Given the description of an element on the screen output the (x, y) to click on. 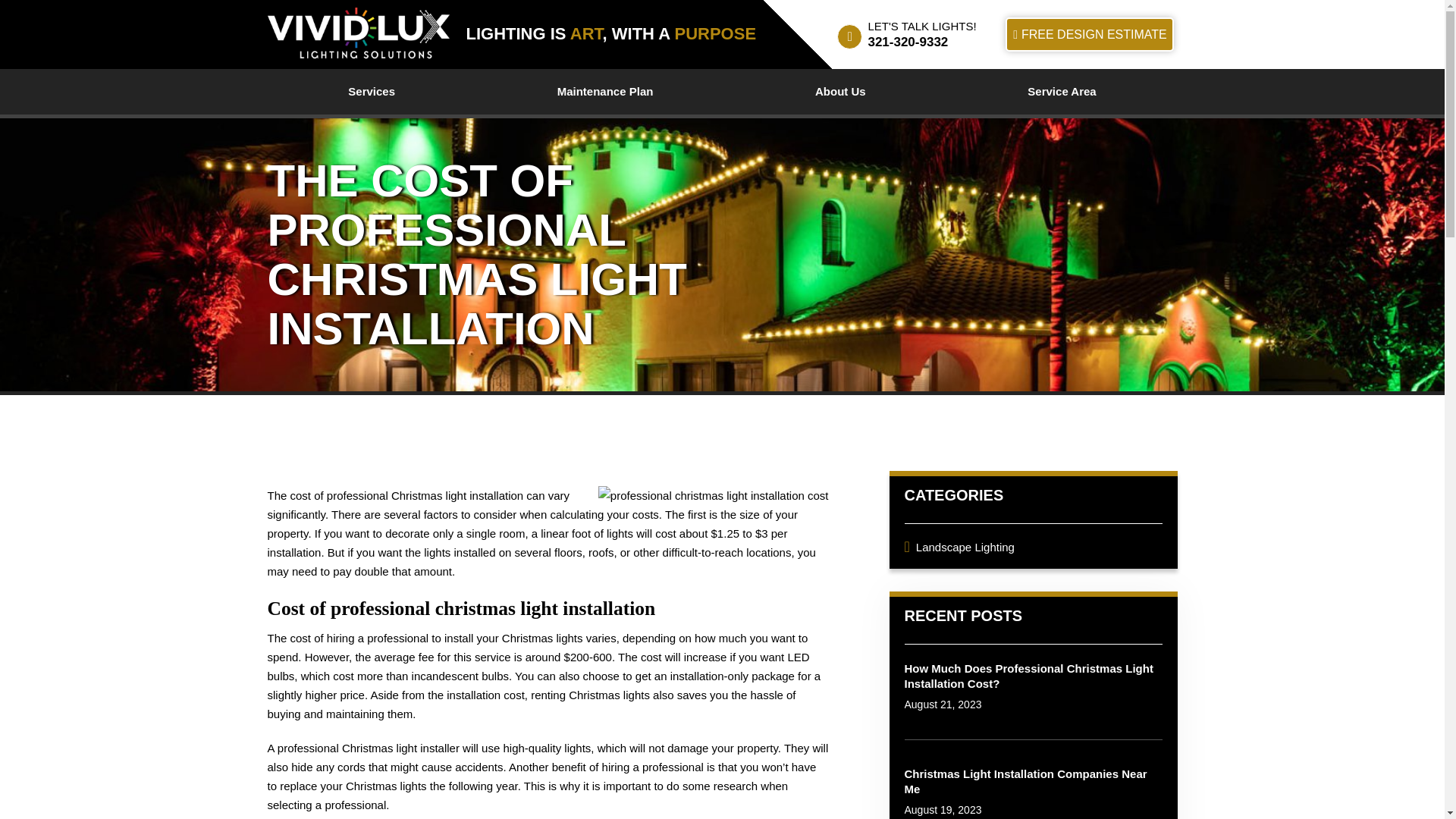
LET'S TALK LIGHTS! (921, 25)
About Us (839, 91)
Maintenance Plan (604, 91)
FREE DESIGN ESTIMATE (1089, 34)
Services (371, 91)
Service Area (1062, 91)
321-320-9332 (907, 42)
